Given the description of an element on the screen output the (x, y) to click on. 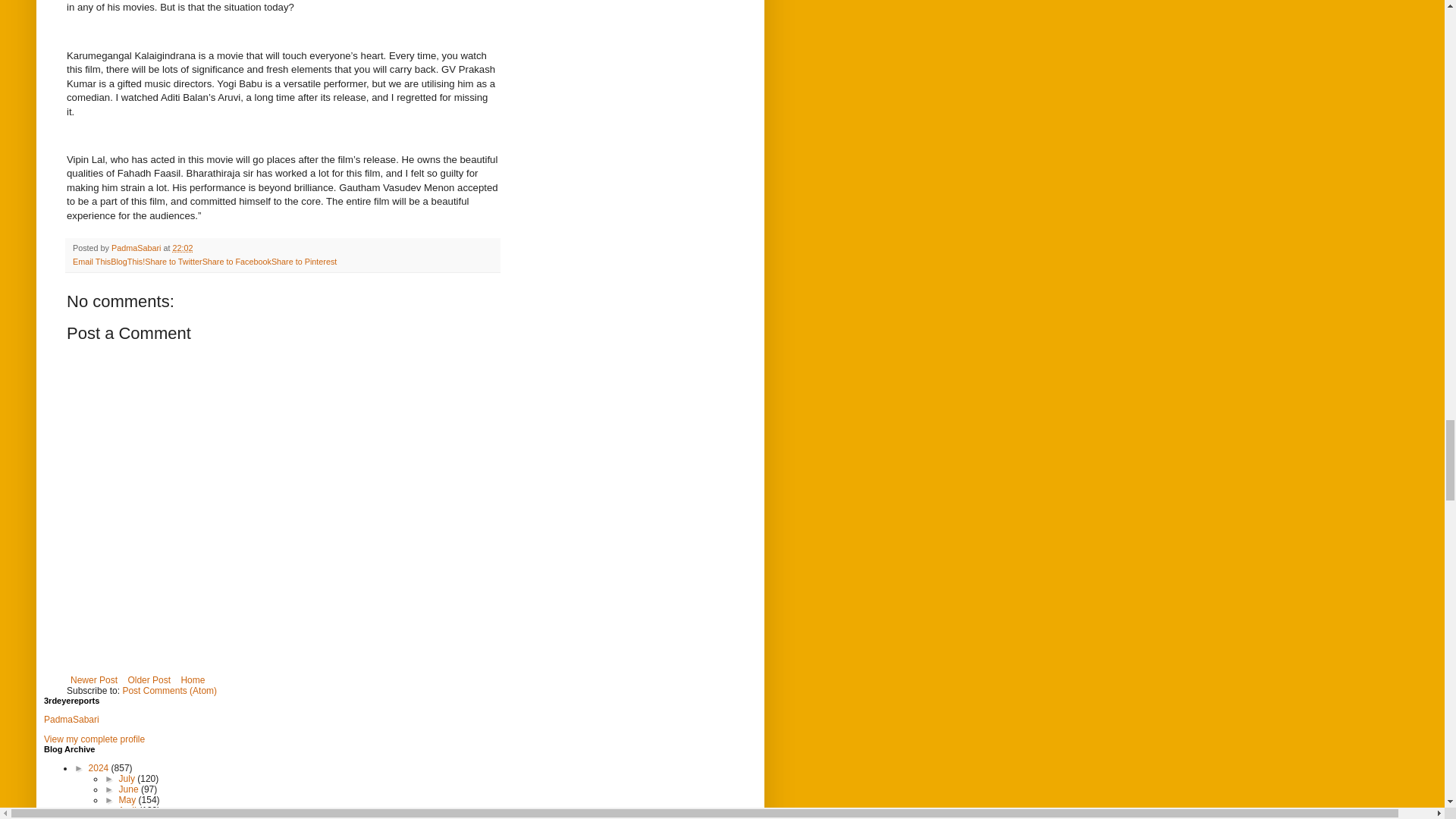
Email This (91, 261)
Newer Post (93, 679)
2024 (100, 767)
Older Post (148, 679)
March (133, 817)
Share to Pinterest (303, 261)
Share to Twitter (173, 261)
View my complete profile (93, 738)
PadmaSabari (71, 719)
Share to Twitter (173, 261)
BlogThis! (127, 261)
Older Post (148, 679)
June (130, 788)
May (128, 799)
April (127, 810)
